Given the description of an element on the screen output the (x, y) to click on. 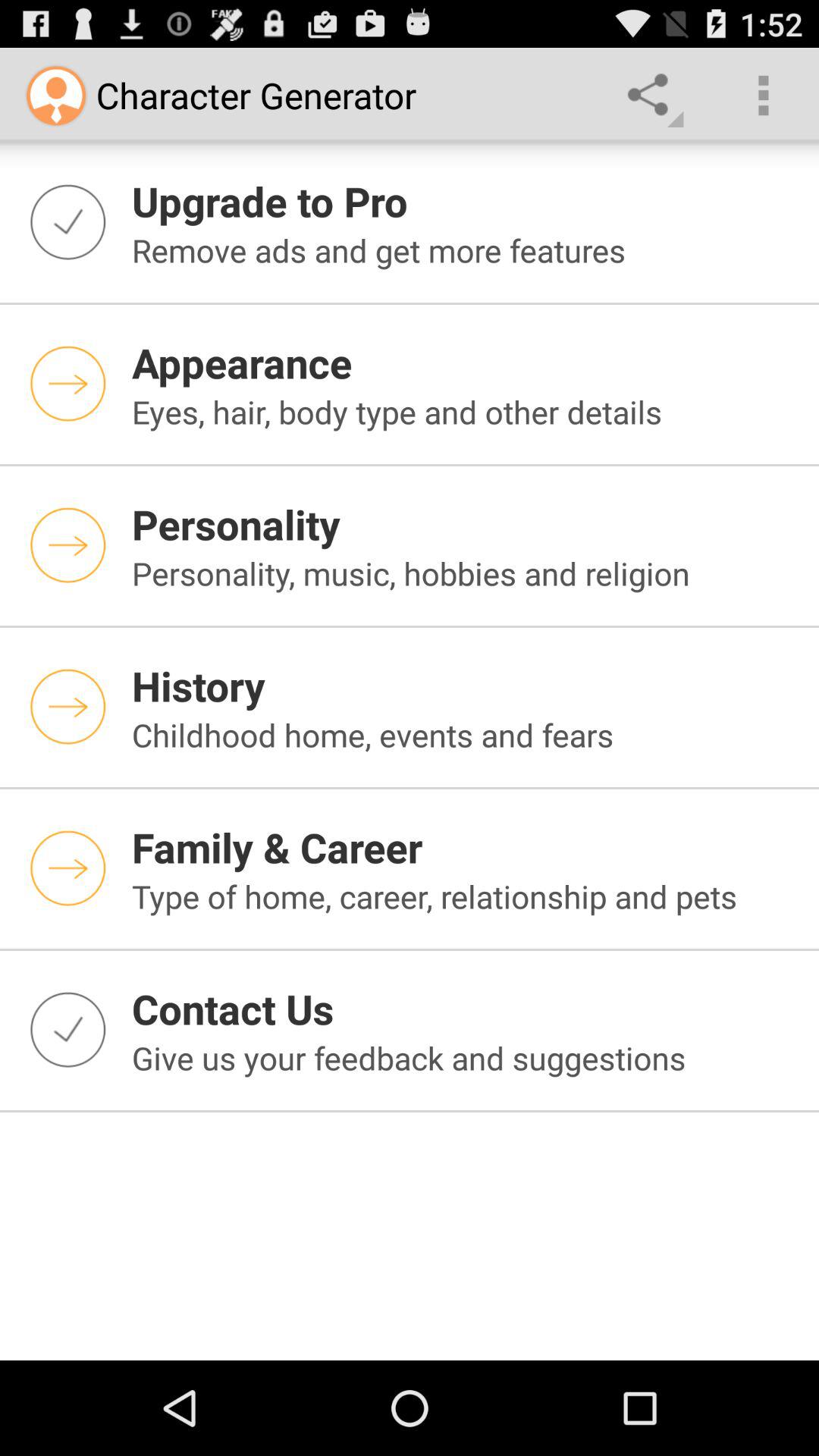
scroll to eyes hair body (465, 411)
